Given the description of an element on the screen output the (x, y) to click on. 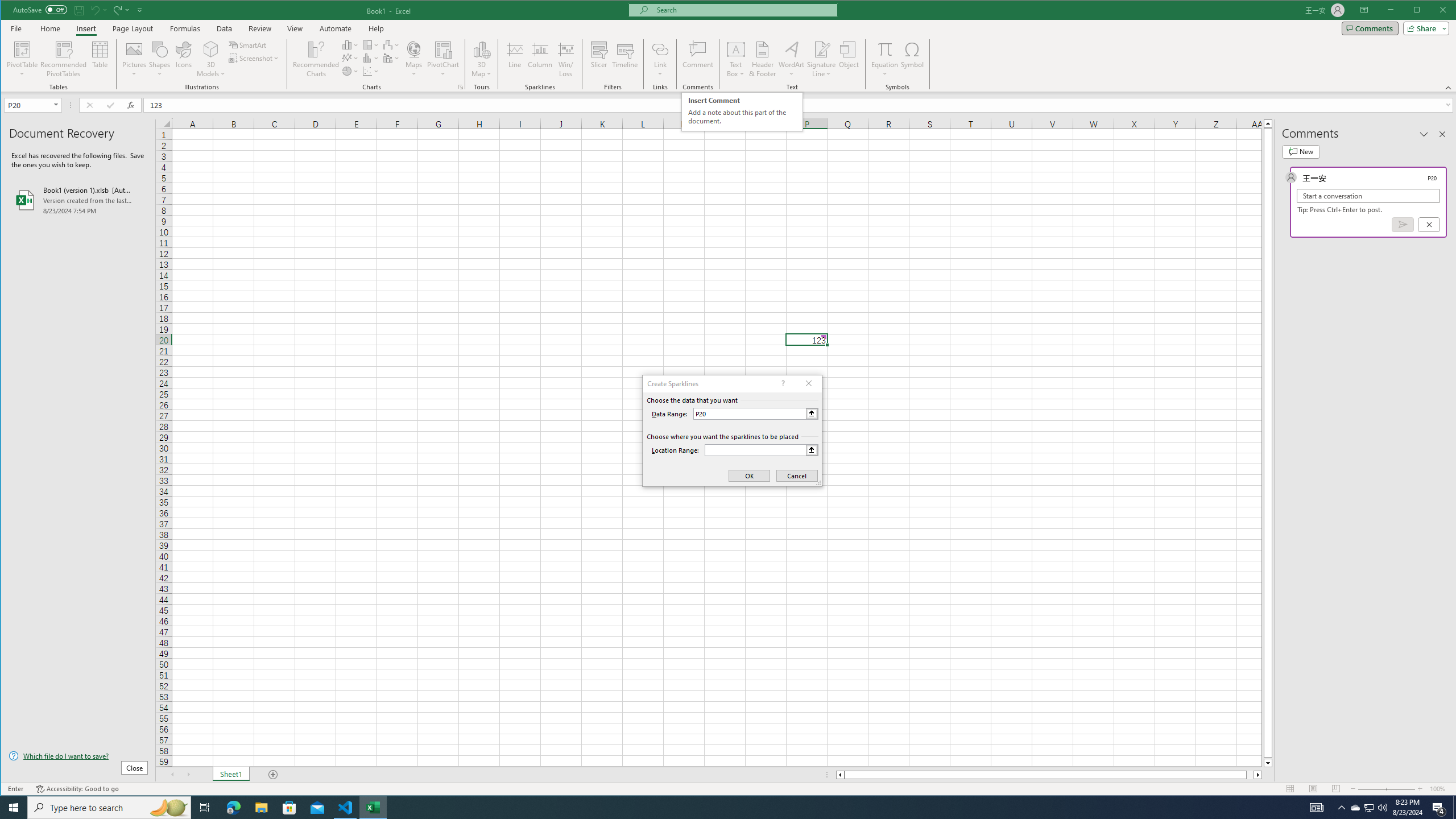
Line (514, 59)
Slicer... (598, 59)
New comment (1300, 151)
Table (100, 59)
Object... (848, 59)
Column (540, 59)
3D Models (211, 48)
